Given the description of an element on the screen output the (x, y) to click on. 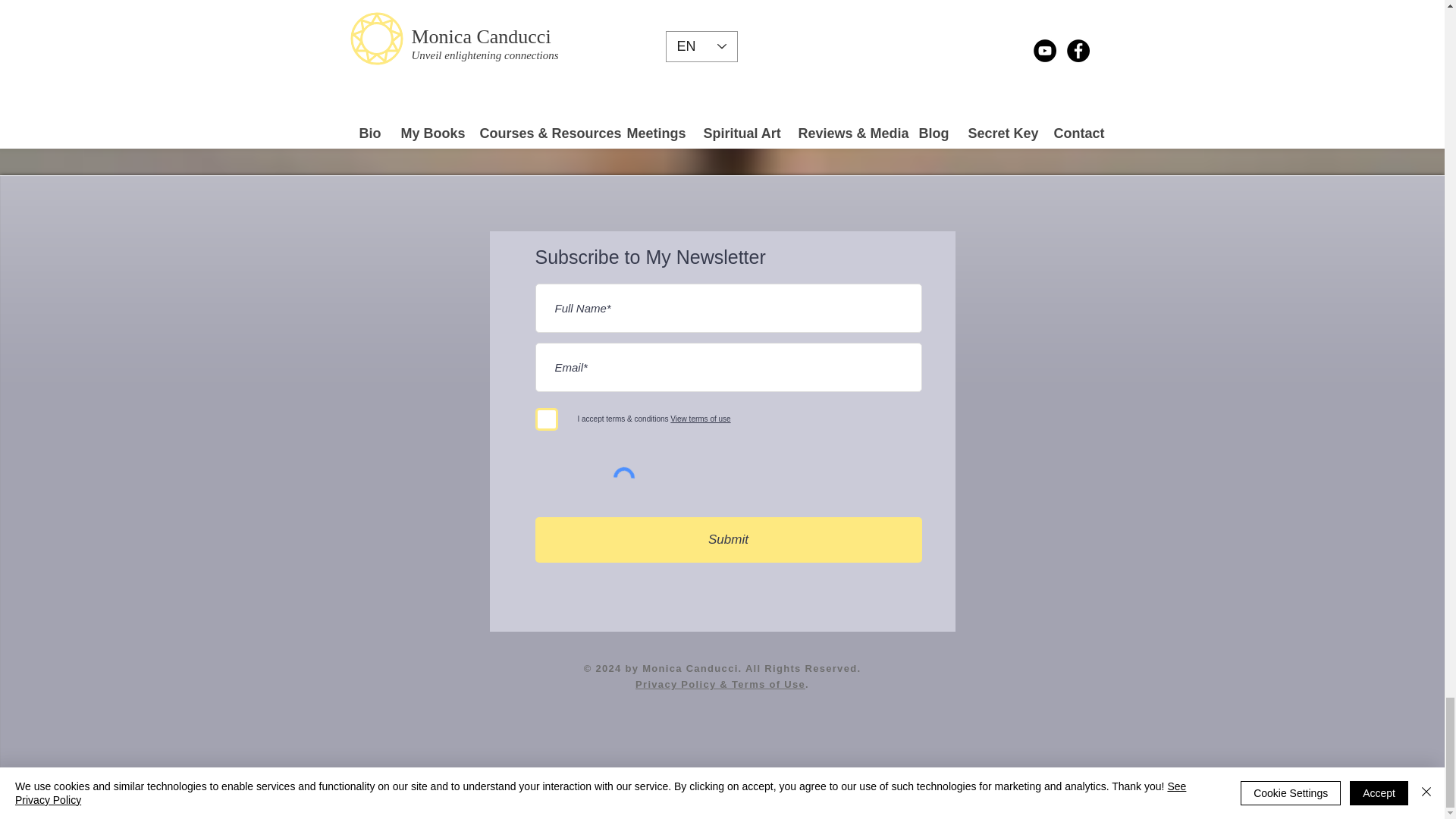
View terms of use (699, 418)
Submit (728, 539)
